Given the description of an element on the screen output the (x, y) to click on. 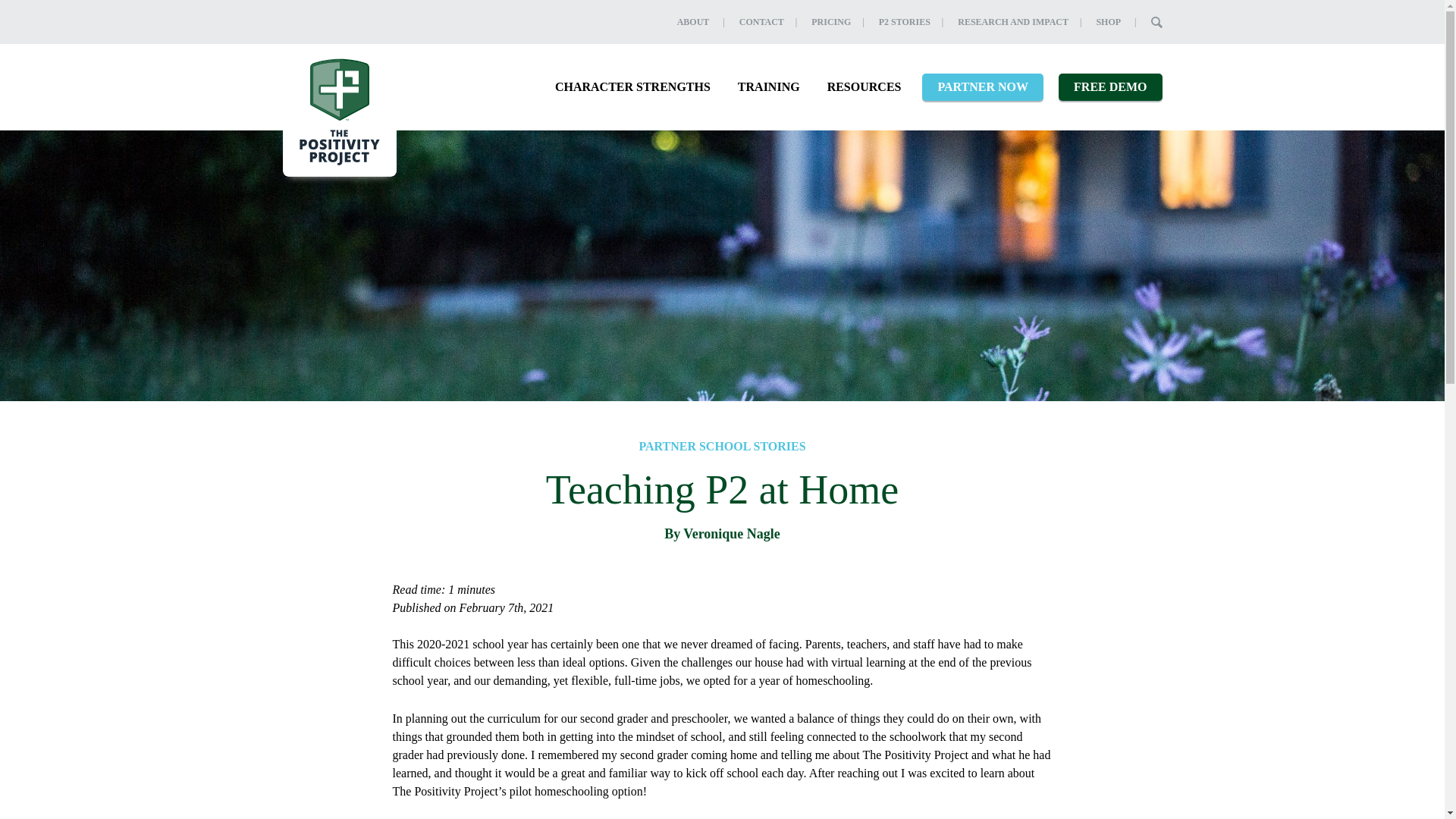
The Positivity Project - Home (339, 108)
ABOUT (693, 21)
